Given the description of an element on the screen output the (x, y) to click on. 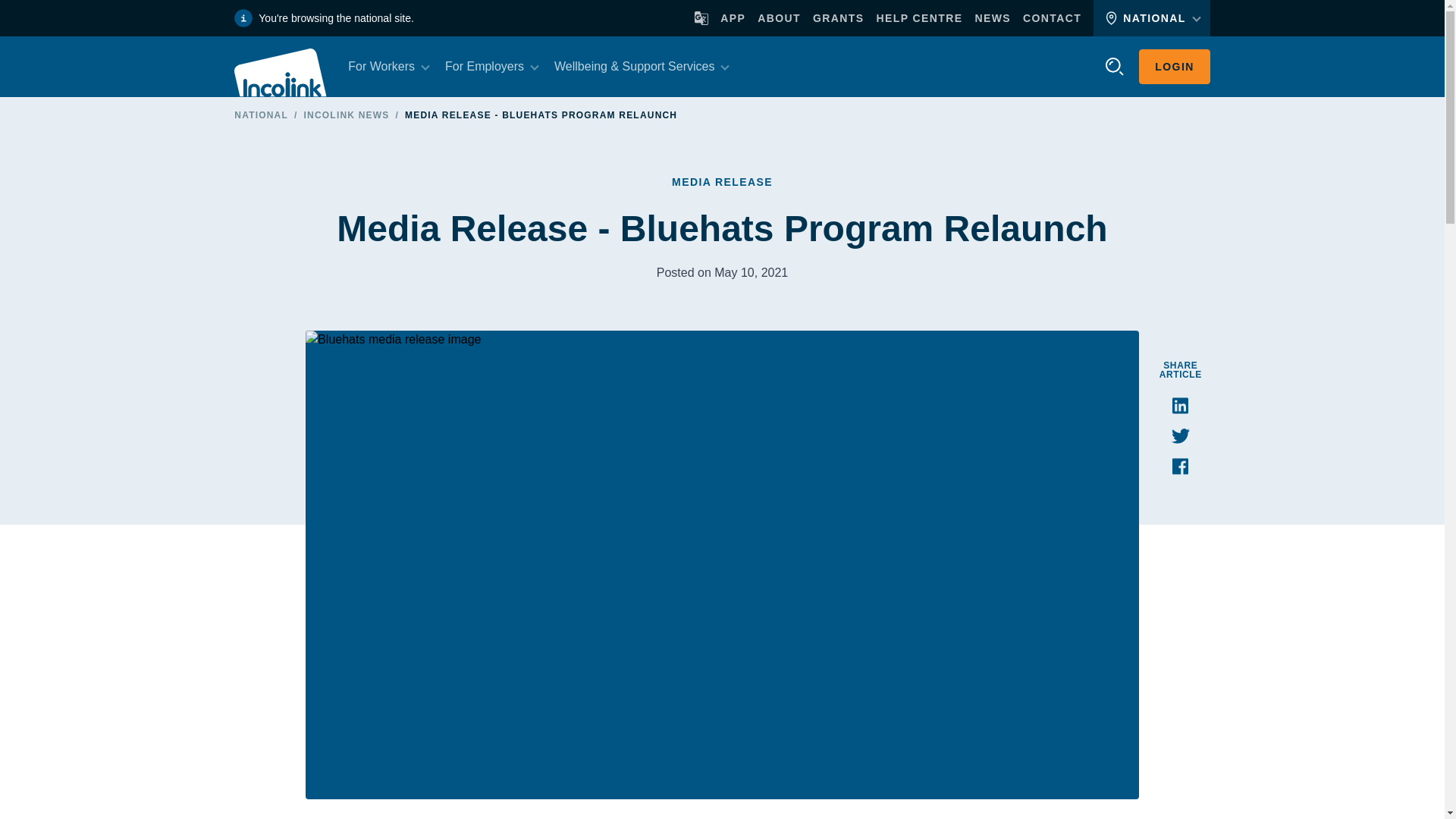
For Employers (484, 66)
HELP CENTRE (919, 18)
GRANTS (838, 18)
For Workers (380, 66)
CONTACT (1052, 18)
APP (732, 18)
NEWS (992, 18)
ABOUT (778, 18)
